Given the description of an element on the screen output the (x, y) to click on. 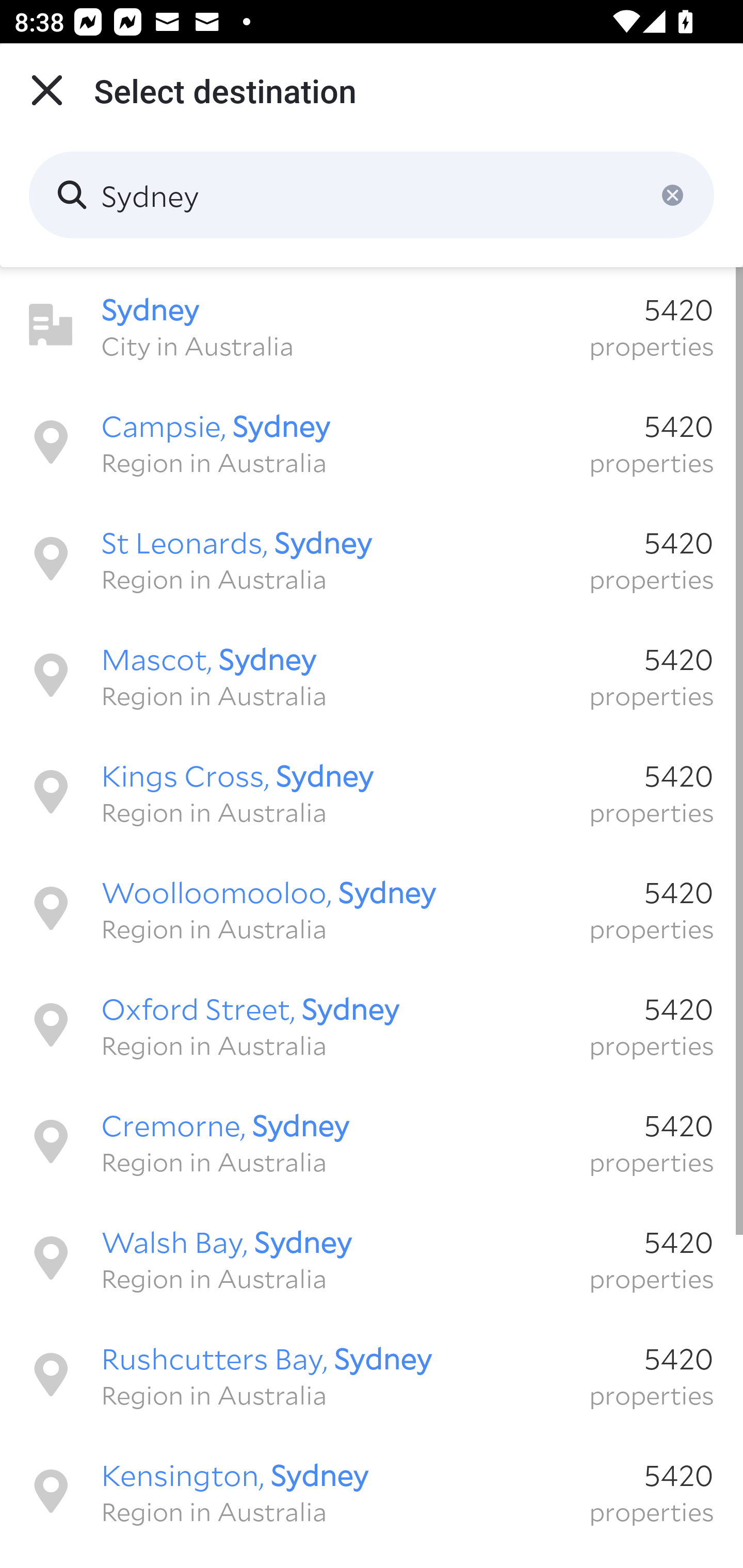
Sydney (371, 195)
Sydney 5420 City in Australia properties (371, 325)
Mascot, Sydney 5420 Region in Australia properties (371, 674)
